Given the description of an element on the screen output the (x, y) to click on. 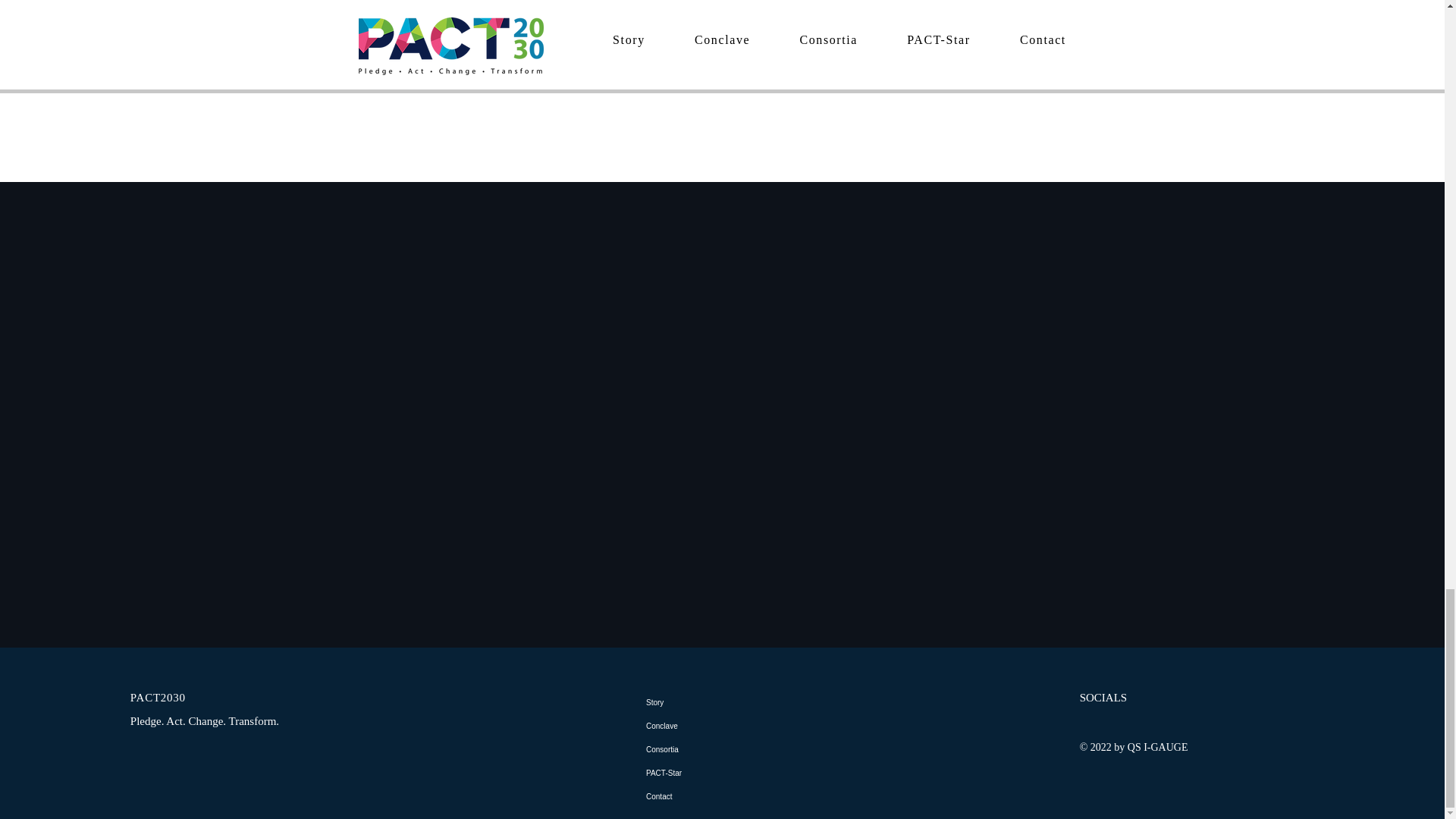
Conclave (726, 725)
Consortia (726, 749)
PACT2030 (158, 697)
PACT-Star (726, 772)
Story (726, 702)
Contact (726, 796)
